Given the description of an element on the screen output the (x, y) to click on. 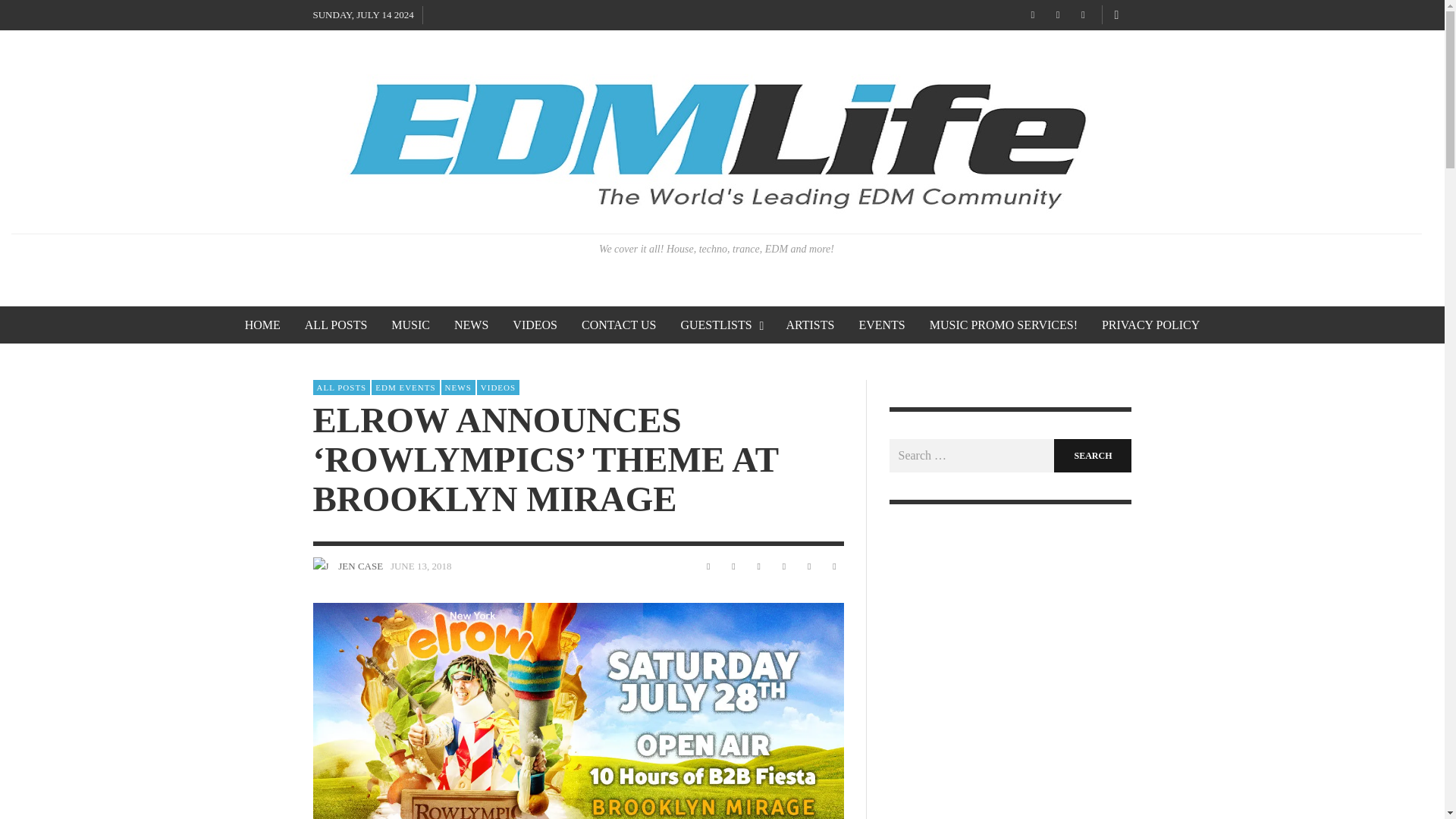
PRIVACY POLICY (1150, 324)
Music (410, 324)
VIDEOS (534, 324)
MUSIC (410, 324)
JEN CASE (359, 565)
ALL POSTS (336, 324)
View all posts in All Posts (341, 387)
Posts by Jen Case (321, 566)
View all posts in News (458, 387)
ARTISTS (809, 324)
EDM EVENTS (405, 387)
MUSIC PROMO SERVICES! (1003, 324)
VIDEOS (498, 387)
NEWS (458, 387)
